Given the description of an element on the screen output the (x, y) to click on. 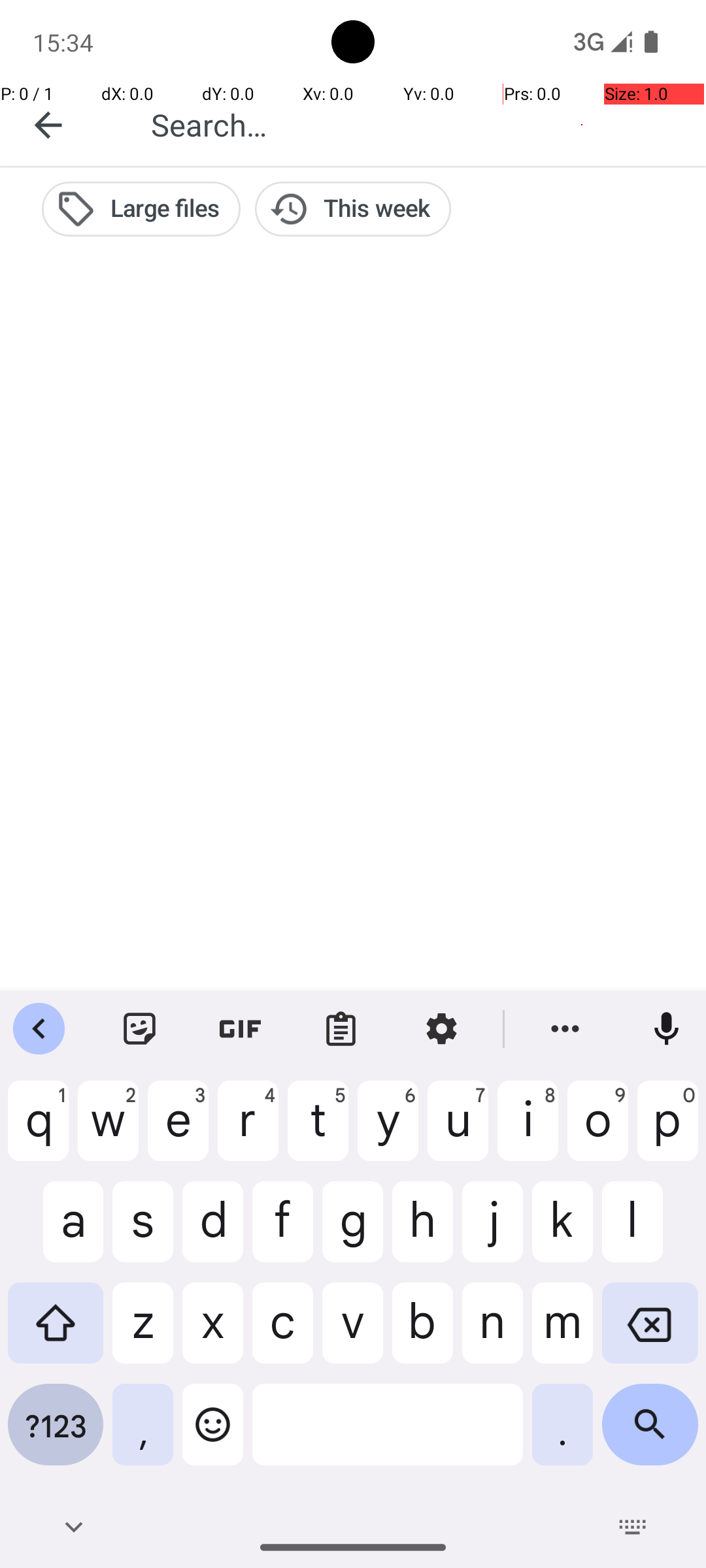
Search… Element type: android.widget.AutoCompleteTextView (414, 124)
Large files Element type: android.widget.CompoundButton (140, 208)
This week Element type: android.widget.CompoundButton (352, 208)
